Given the description of an element on the screen output the (x, y) to click on. 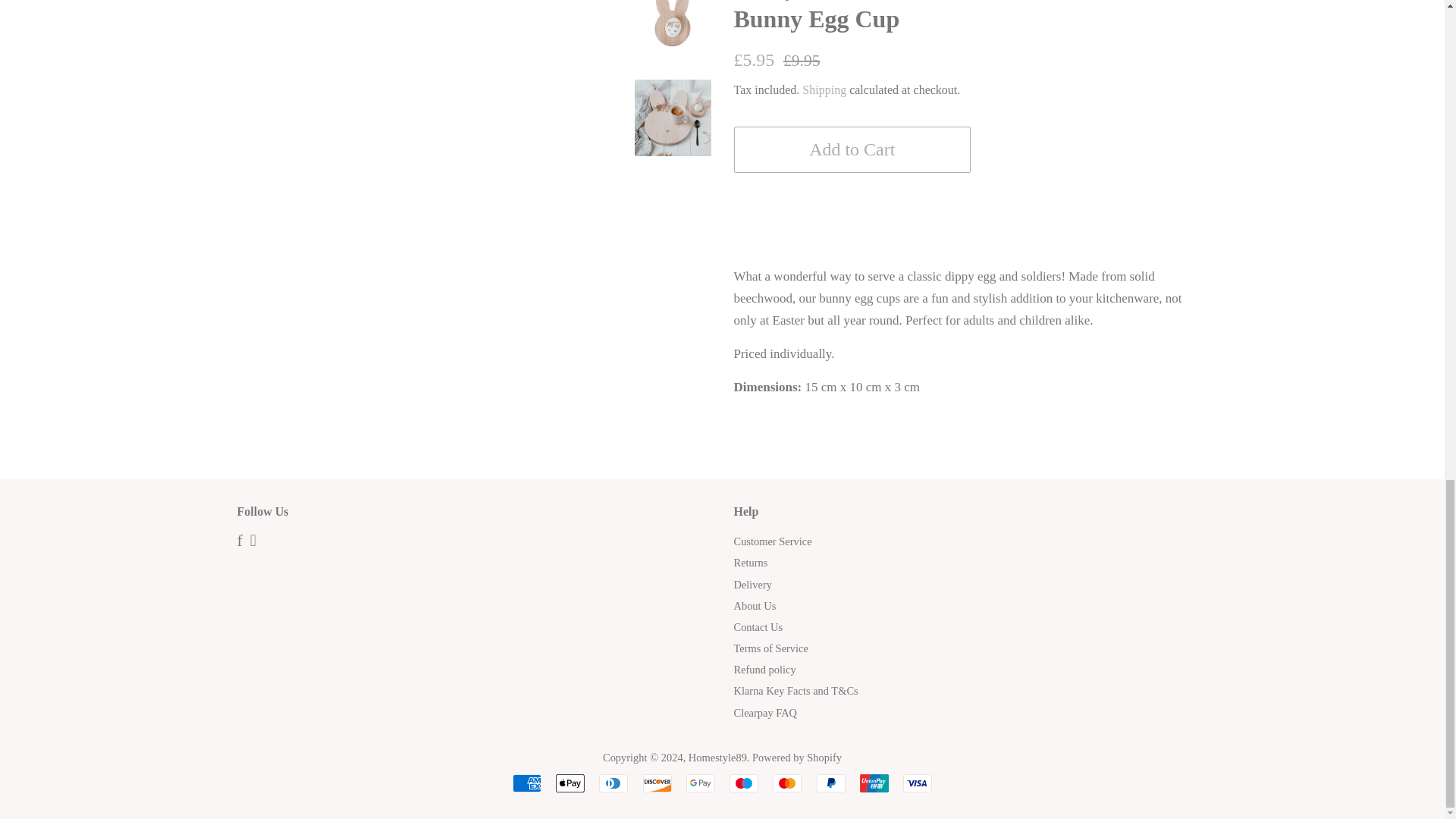
Mastercard (787, 782)
Visa (916, 782)
Diners Club (612, 782)
Discover (657, 782)
Union Pay (874, 782)
PayPal (830, 782)
American Express (526, 782)
Google Pay (699, 782)
Apple Pay (570, 782)
Maestro (743, 782)
